Given the description of an element on the screen output the (x, y) to click on. 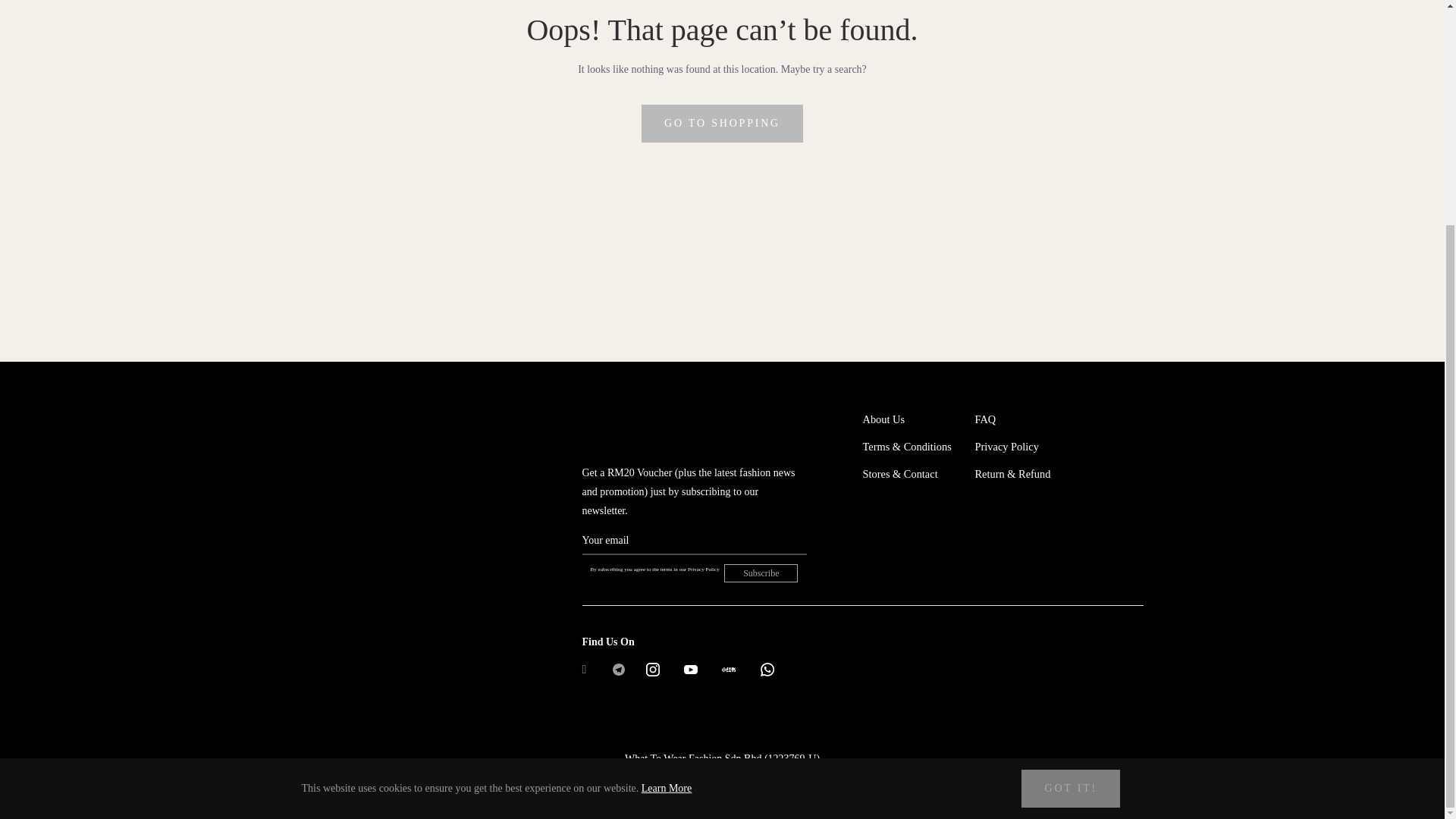
About Us (884, 419)
What To Wear on YouTube (690, 668)
What To Wear on Instagram (652, 668)
What To Wear on Whatsapp (767, 668)
Subscribe (760, 573)
Privacy Policy (1007, 446)
FAQ (985, 419)
GO TO SHOPPING (722, 123)
What To Wear on XHS (728, 668)
